Given the description of an element on the screen output the (x, y) to click on. 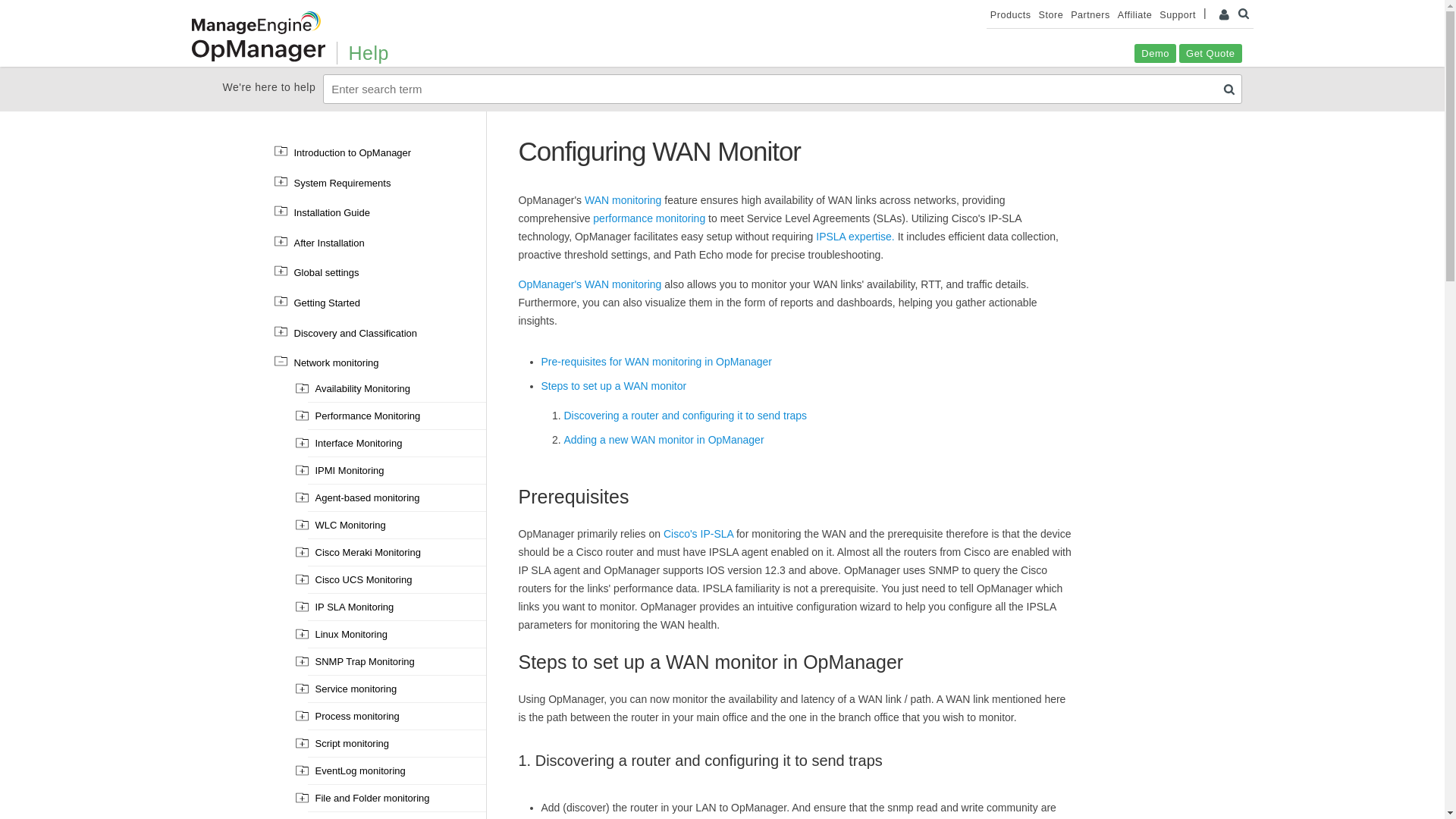
Network Monitoring Software - ManageEngine OpManager (257, 50)
Get Quote - ManageEngine OpManager (1210, 53)
Demo - ManageEngine OpManager (1155, 53)
